Given the description of an element on the screen output the (x, y) to click on. 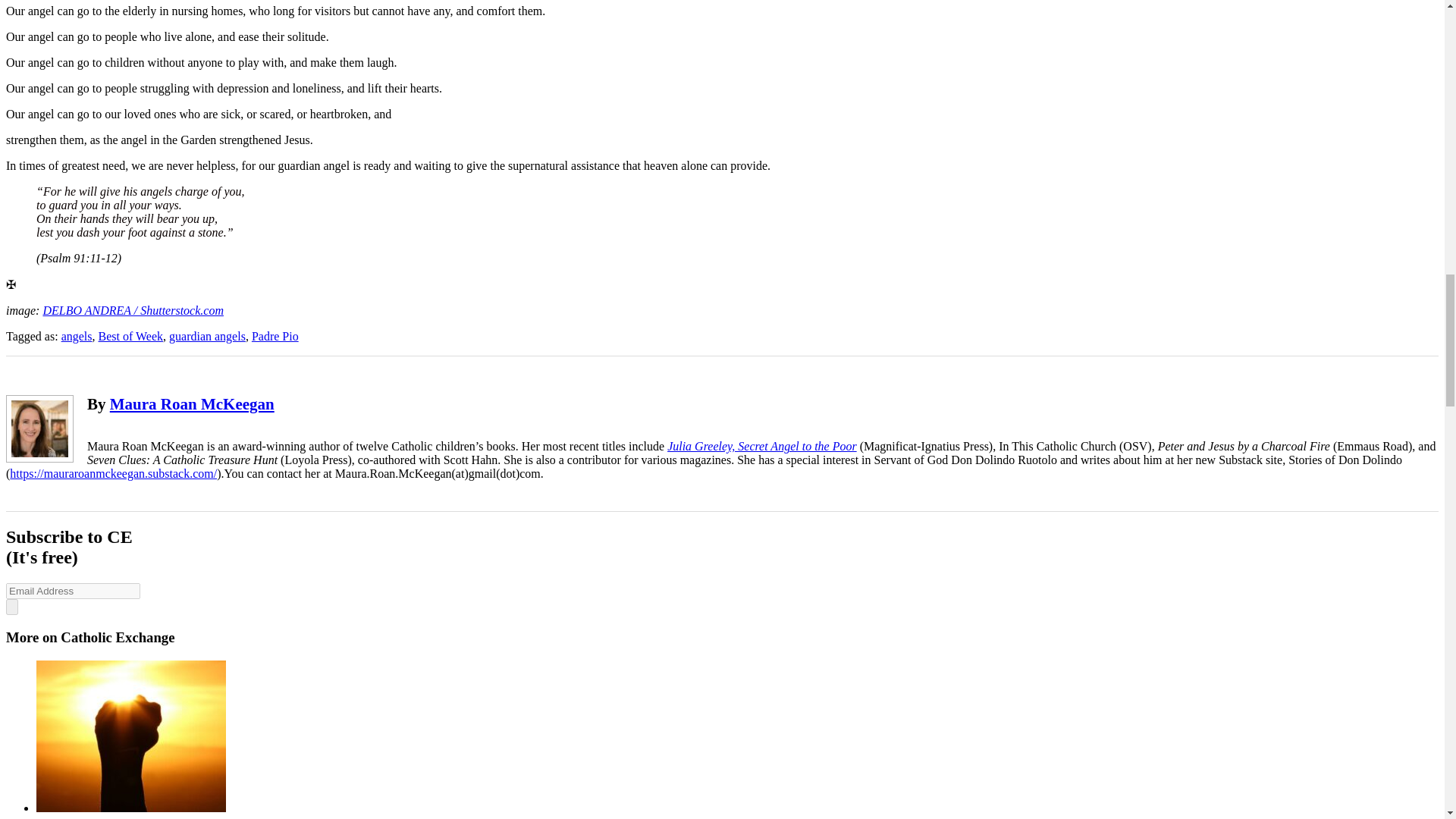
Julia Greeley, Secret Angel to the Poor (761, 445)
guardian angels (207, 335)
Maura Roan McKeegan (192, 403)
Padre Pio (274, 335)
Posts by Maura Roan McKeegan (192, 403)
Best of Week (131, 335)
angels (77, 335)
